Given the description of an element on the screen output the (x, y) to click on. 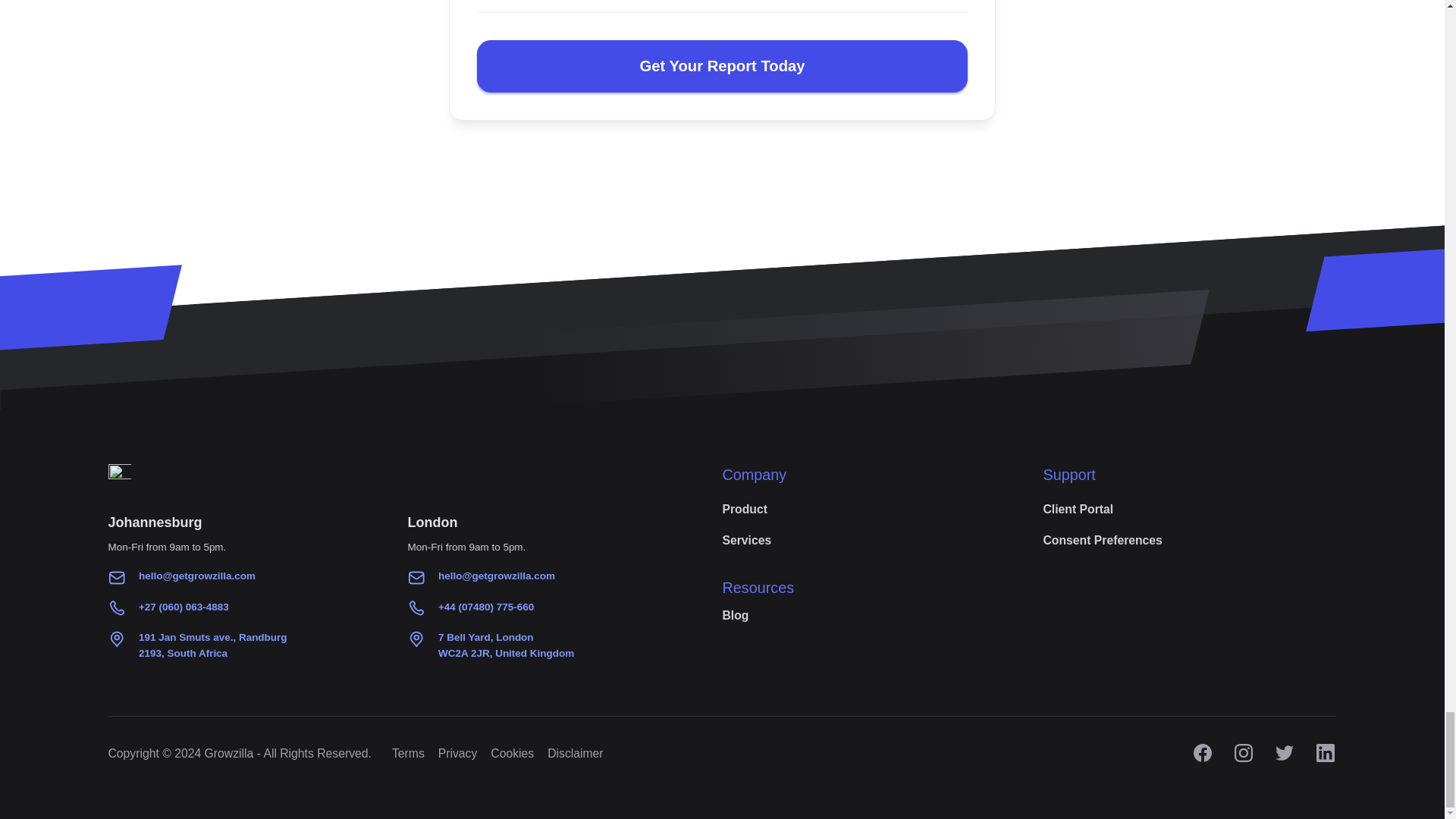
Product (505, 644)
Disclaimer (744, 509)
Privacy (574, 753)
Terms (457, 753)
Cookies (408, 753)
Client Portal (512, 753)
Services (1077, 509)
Consent Preferences (746, 540)
Get Your Report Today (1101, 540)
